Given the description of an element on the screen output the (x, y) to click on. 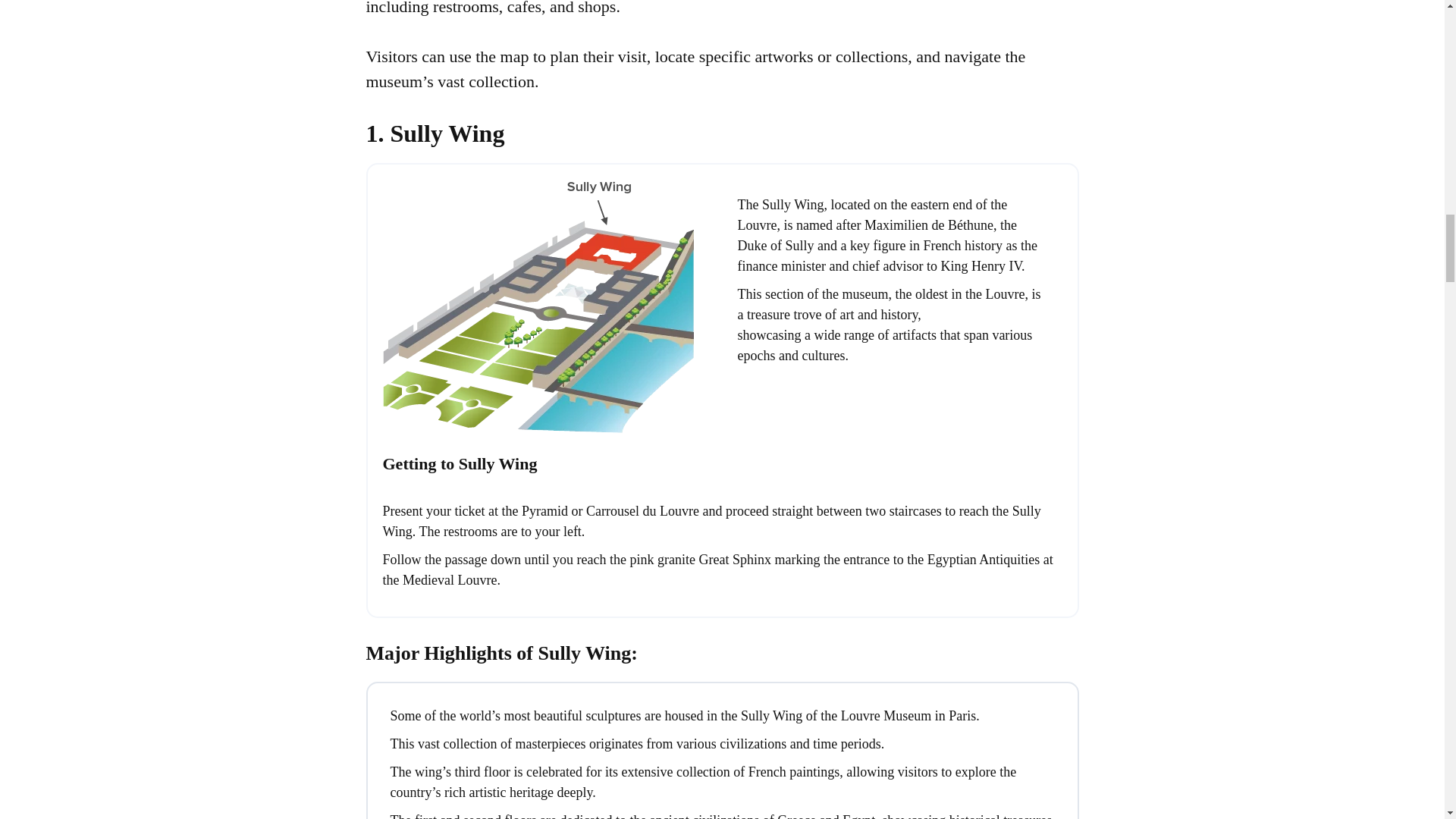
Sully Wing (550, 320)
